Given the description of an element on the screen output the (x, y) to click on. 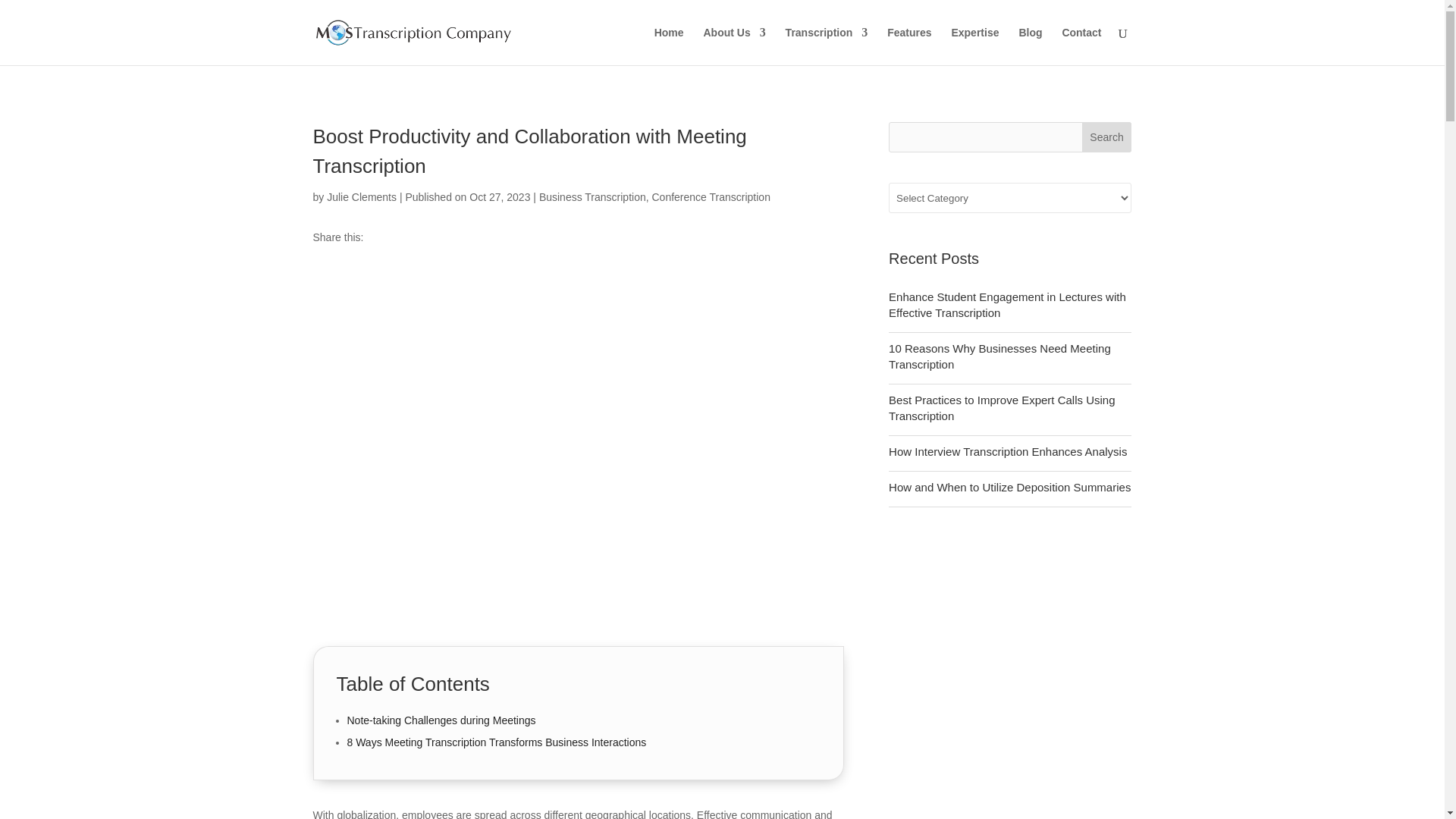
Posts by Julie Clements (361, 196)
Transcription (826, 46)
About Us (734, 46)
